Given the description of an element on the screen output the (x, y) to click on. 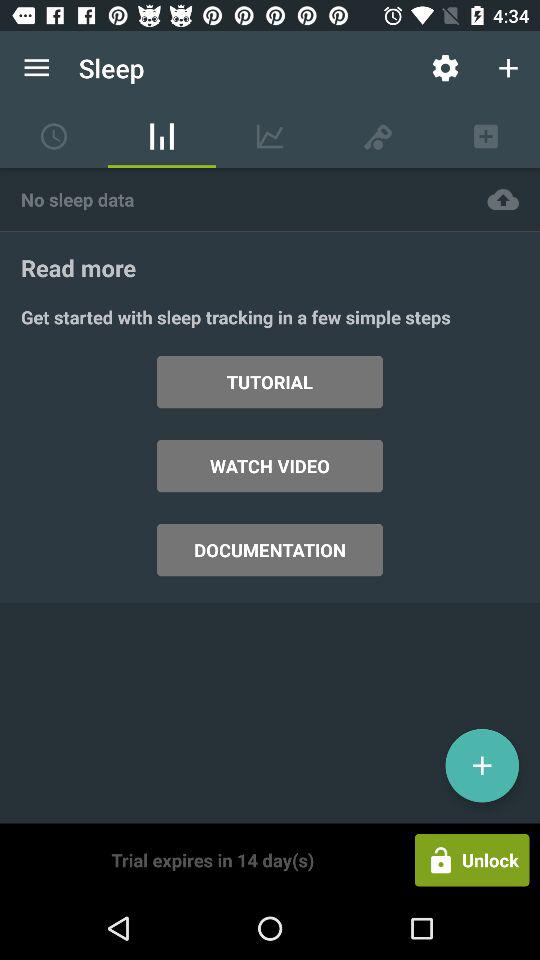
turn on the item next to the sleep app (444, 67)
